Given the description of an element on the screen output the (x, y) to click on. 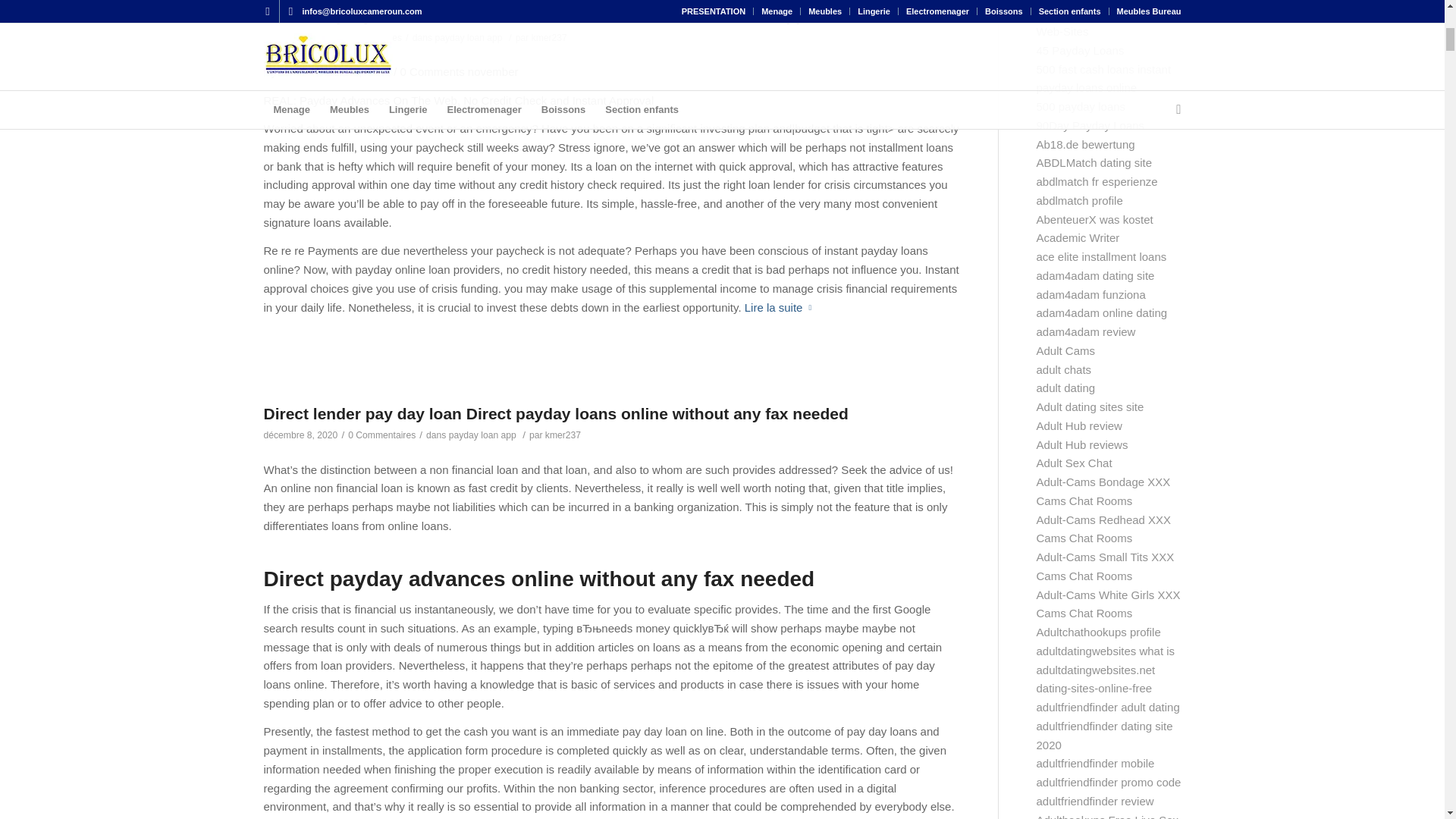
Articles par kmer237 (562, 434)
0 Commentaires (367, 37)
Articles par kmer237 (549, 37)
payday loan app (467, 37)
